Given the description of an element on the screen output the (x, y) to click on. 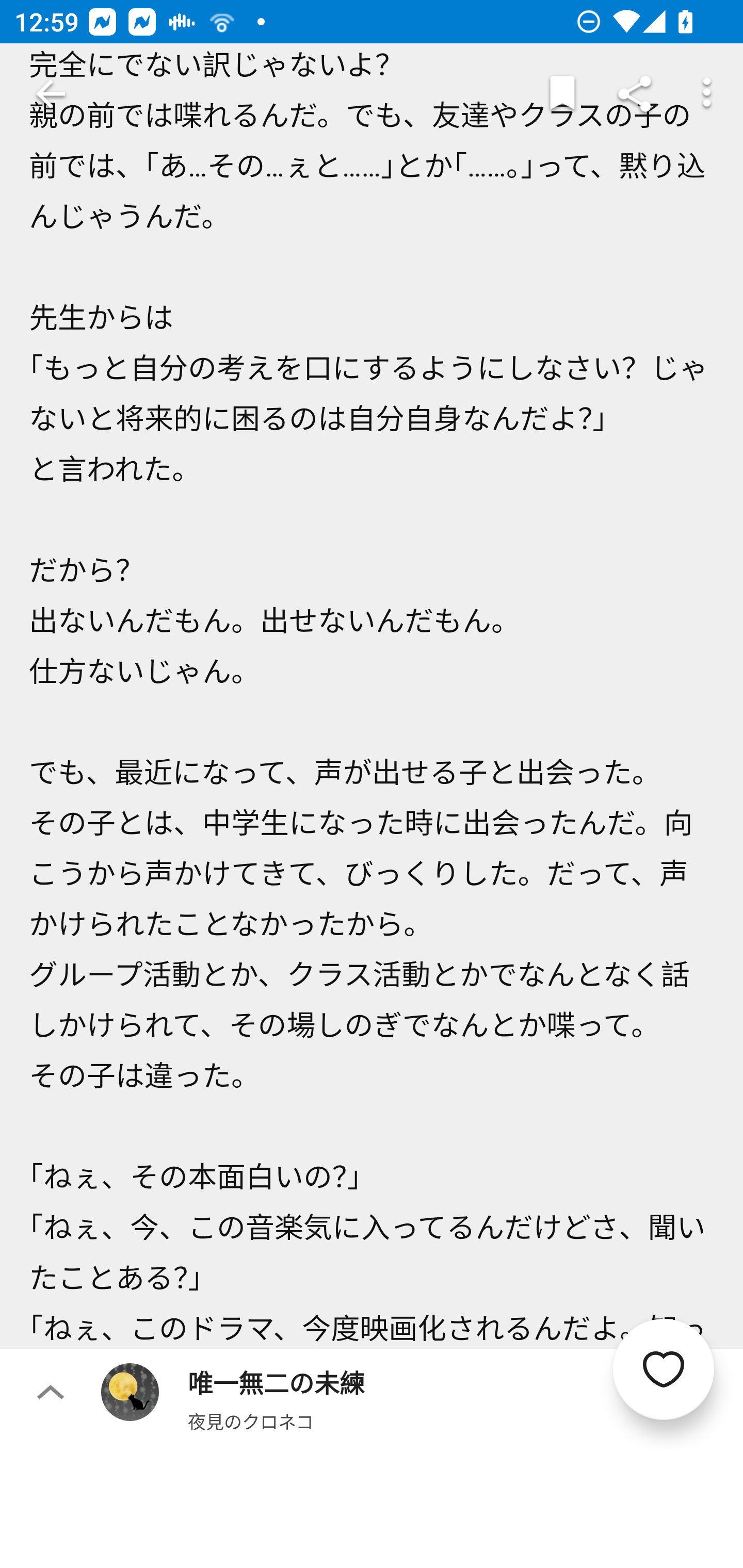
Navigate up (50, 93)
Markers (562, 93)
Share (634, 93)
More options (706, 93)
夜見のクロネコ (250, 1421)
